Given the description of an element on the screen output the (x, y) to click on. 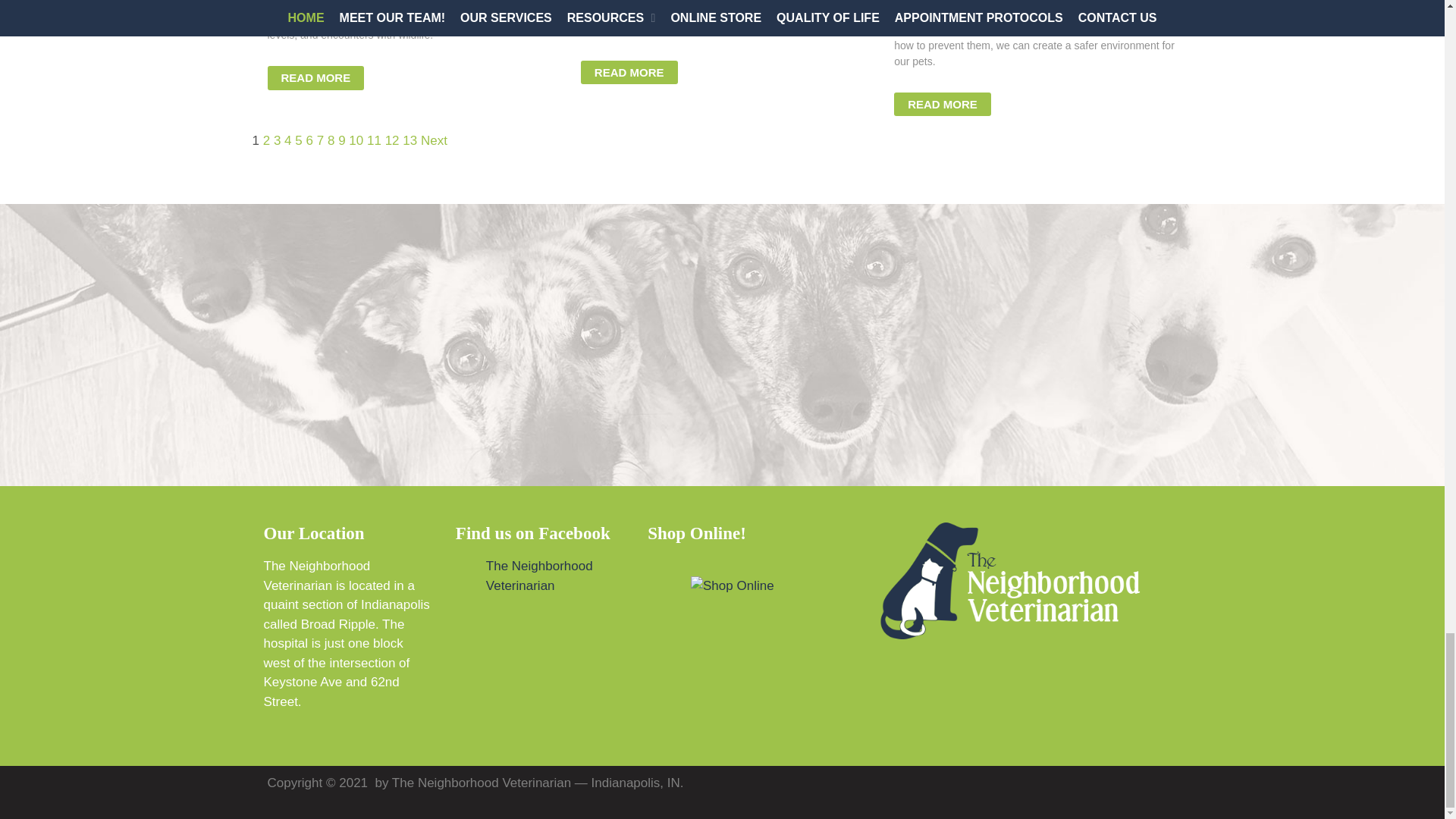
READ MORE (942, 104)
READ MORE (629, 72)
READ MORE (315, 78)
